Given the description of an element on the screen output the (x, y) to click on. 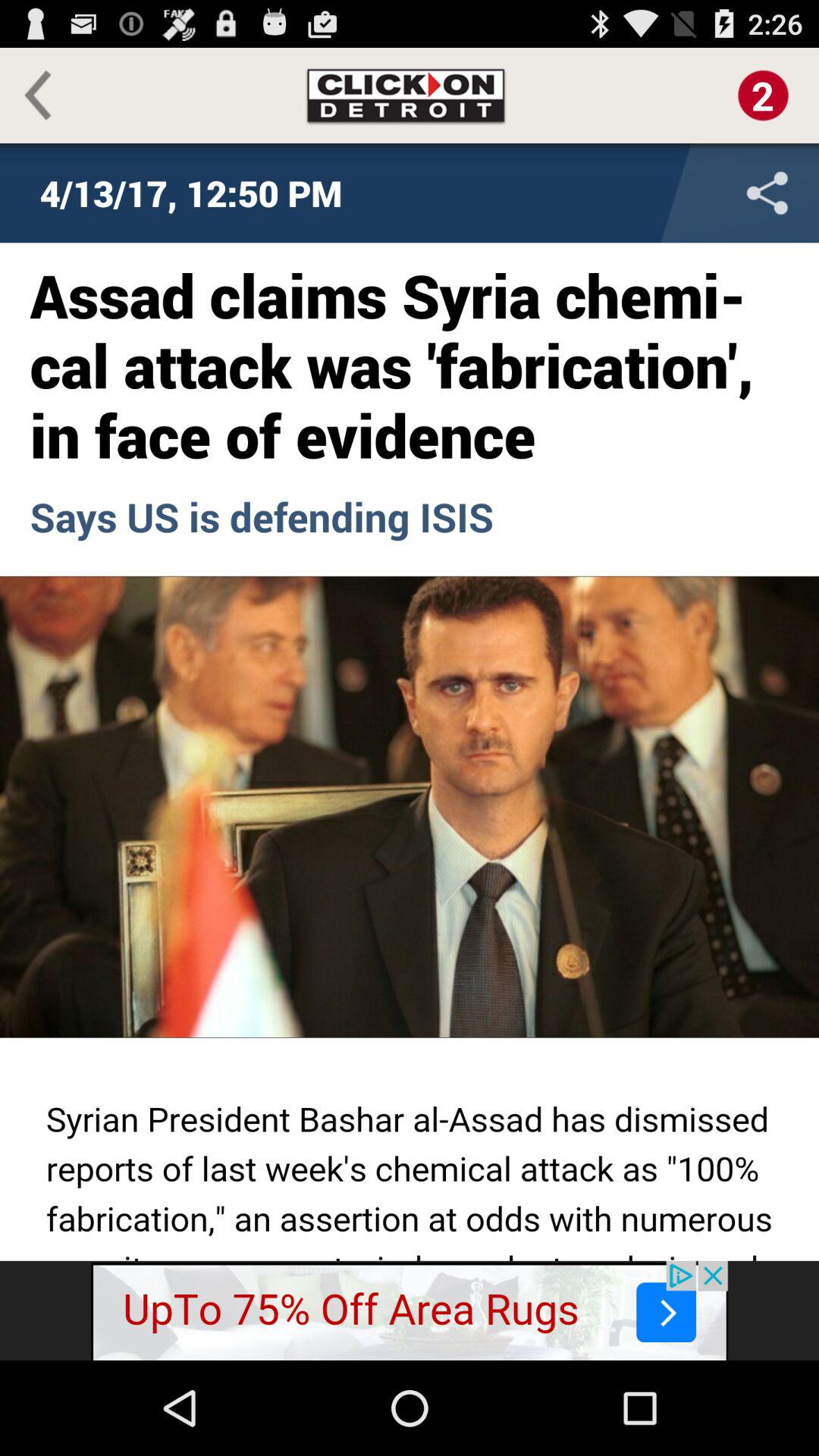
share button (667, 192)
